Given the description of an element on the screen output the (x, y) to click on. 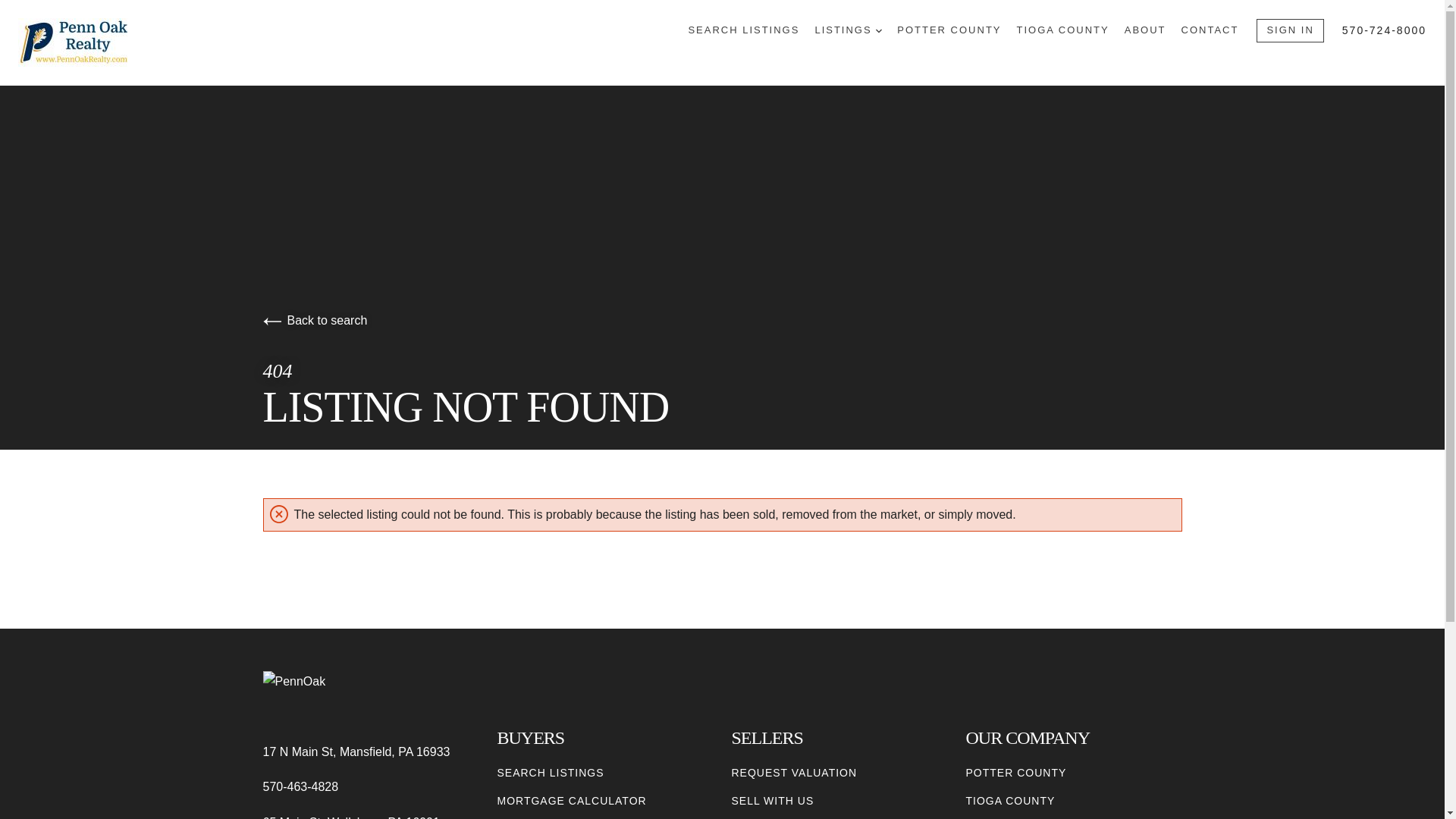
SELL WITH US (771, 801)
ABOUT (1145, 30)
570-724-8000 (1384, 29)
TIOGA COUNTY (1062, 30)
POTTER COUNTY (1016, 772)
SEARCH LISTINGS (550, 772)
TIOGA COUNTY (1010, 801)
SIGN IN (1289, 30)
DROPDOWN ARROW (879, 30)
POTTER COUNTY (948, 30)
